Given the description of an element on the screen output the (x, y) to click on. 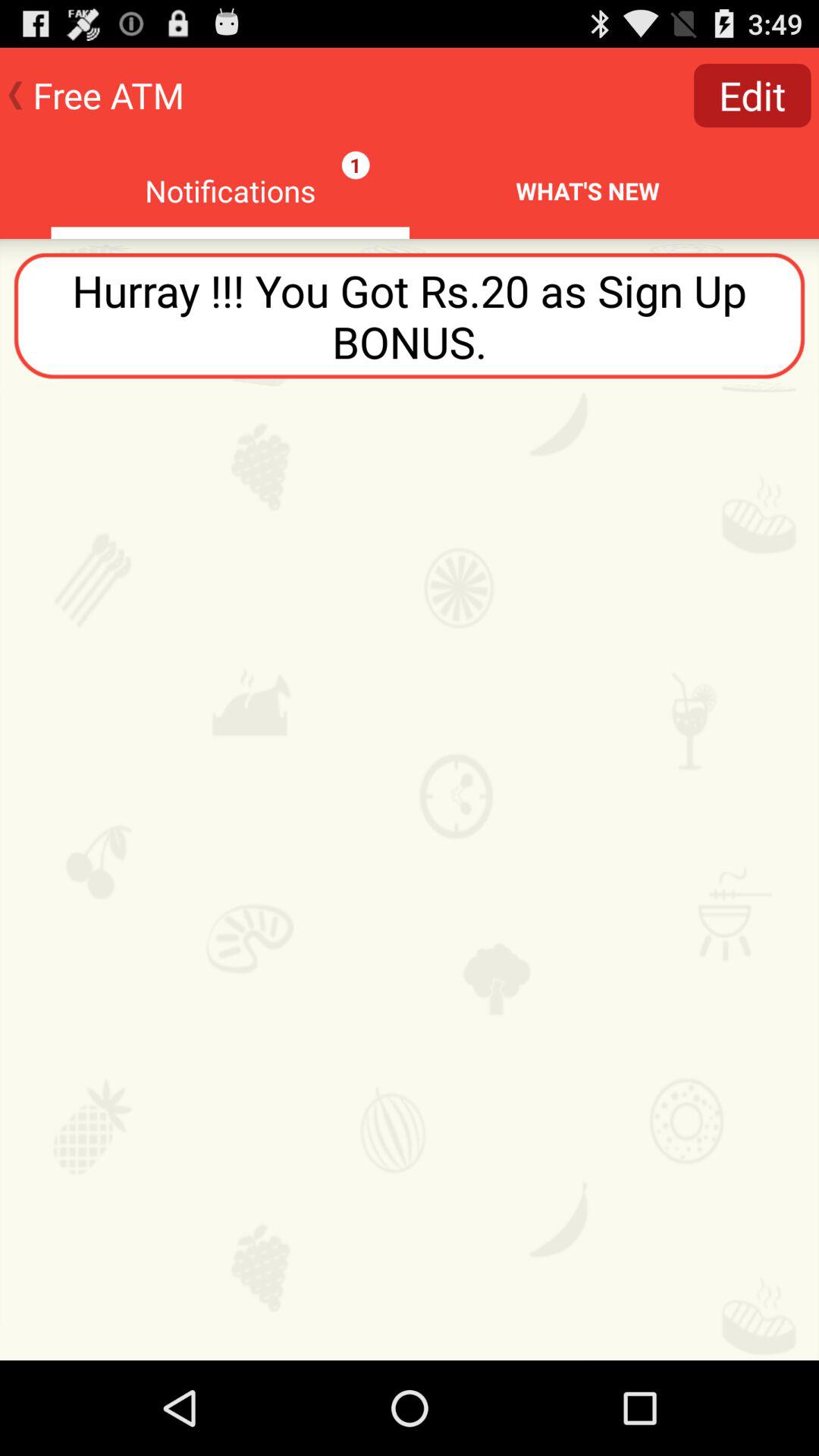
open app next to the notifications icon (752, 95)
